Given the description of an element on the screen output the (x, y) to click on. 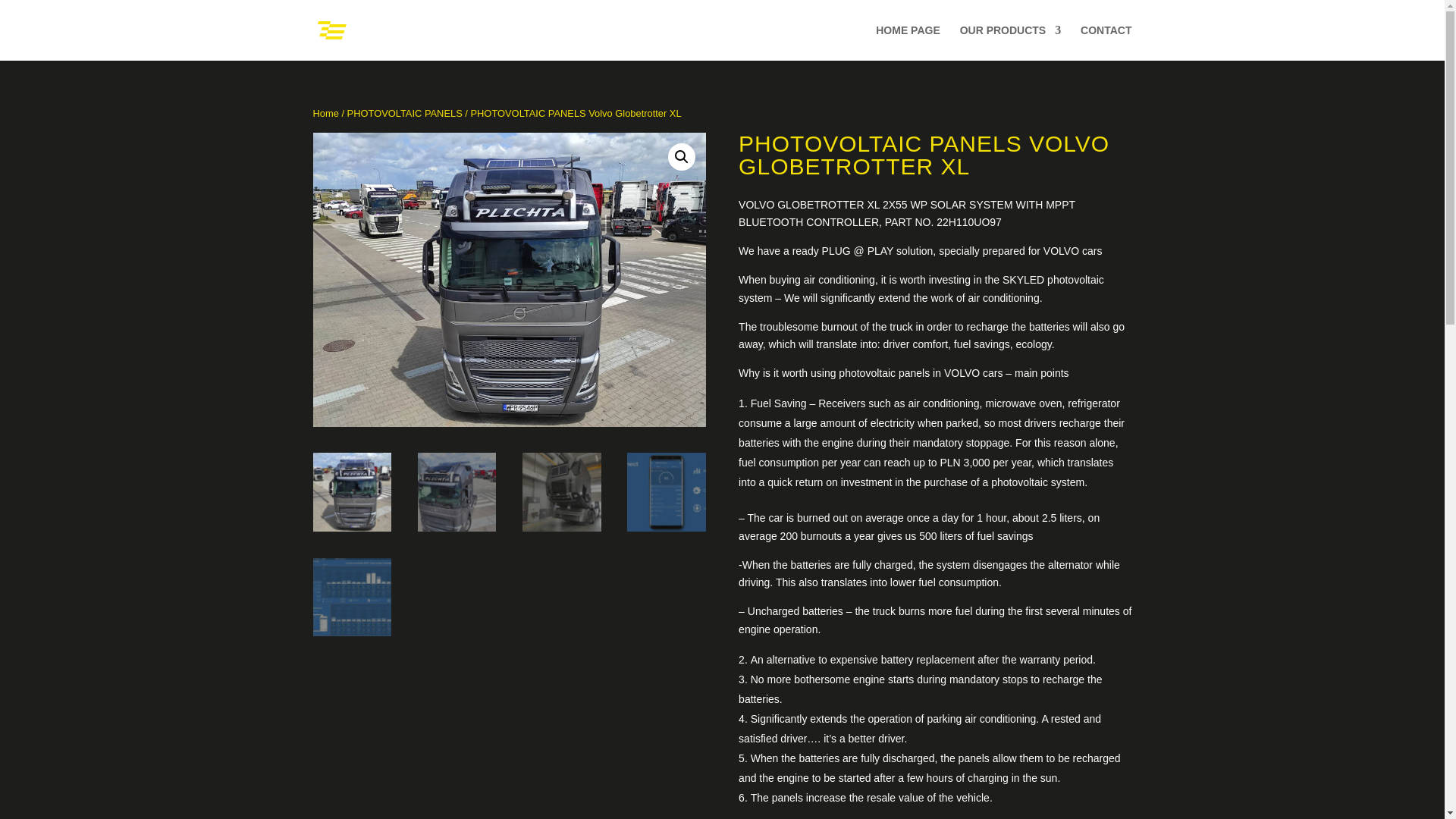
2 (508, 279)
PHOTOVOLTAIC PANELS (405, 112)
CONTACT (1105, 42)
HOME PAGE (908, 42)
OUR PRODUCTS (1010, 42)
Home (325, 112)
